Given the description of an element on the screen output the (x, y) to click on. 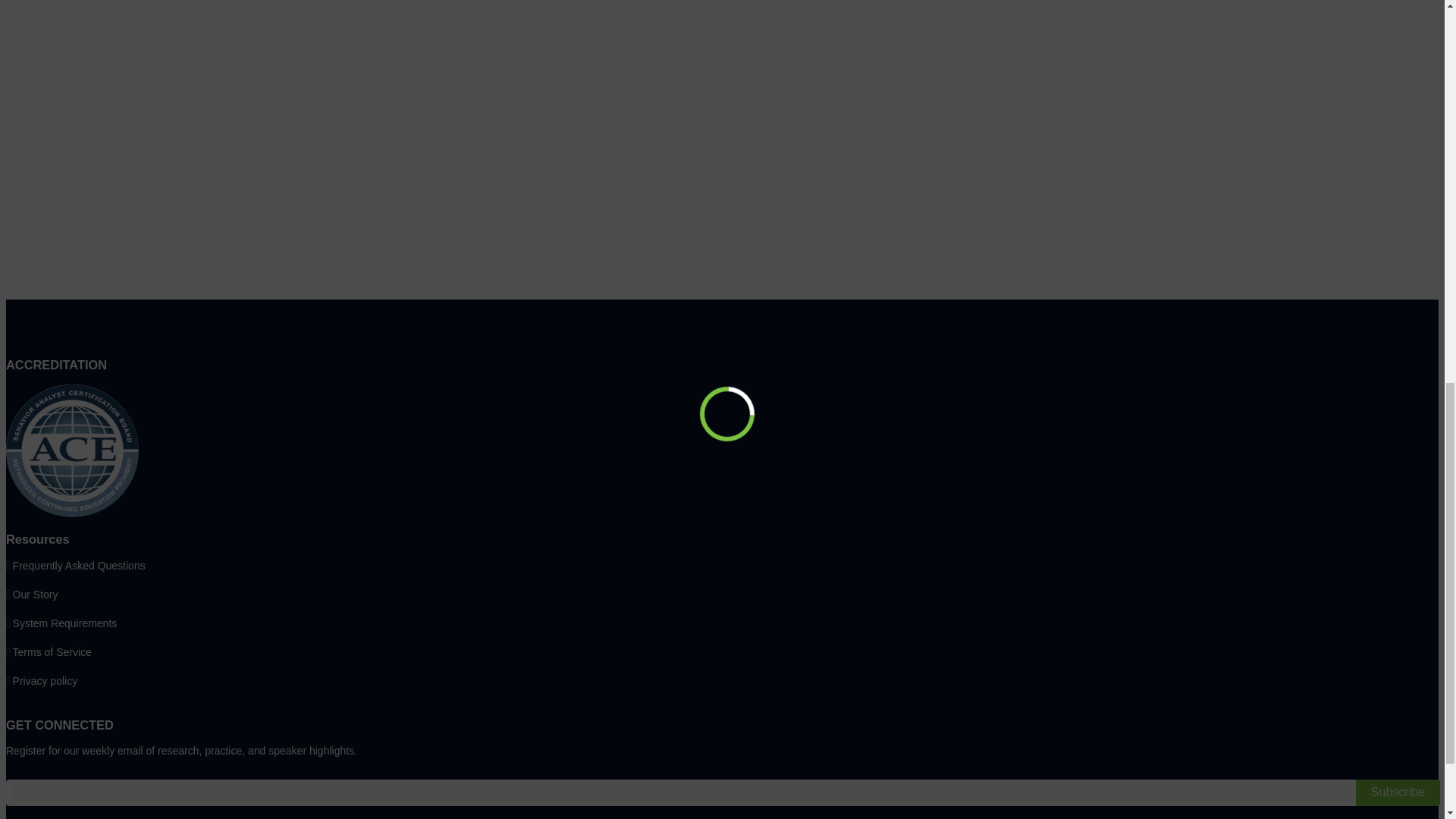
Our Story (35, 593)
Frequently Asked Questions (79, 565)
System Requirements (65, 623)
Privacy policy (45, 680)
Terms of Service (52, 652)
